Given the description of an element on the screen output the (x, y) to click on. 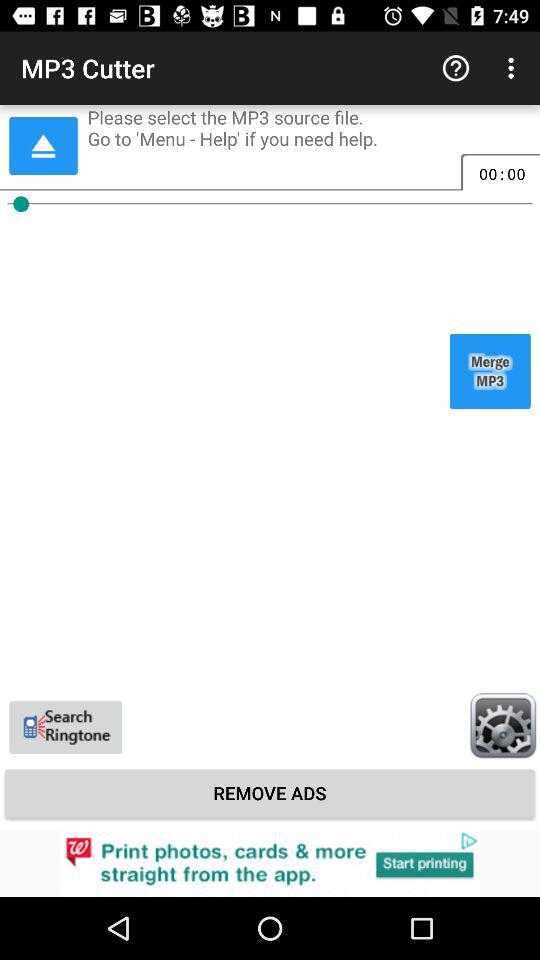
advertisement (270, 864)
